Given the description of an element on the screen output the (x, y) to click on. 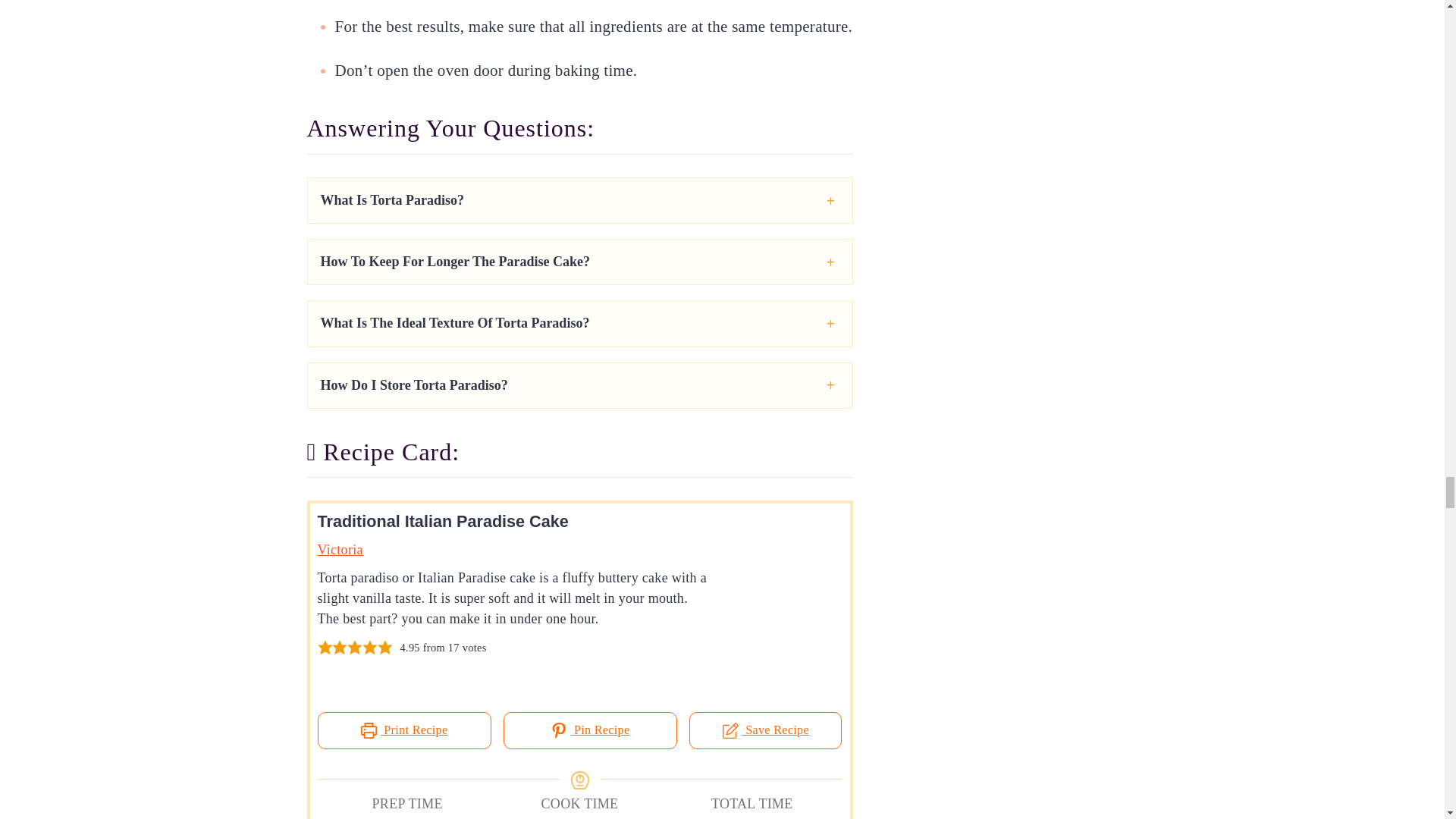
Pin Recipe (590, 730)
How Do I Store Torta Paradiso? (413, 384)
How To Keep For Longer The Paradise Cake? (454, 261)
Save Recipe (764, 730)
What Is The Ideal Texture Of Torta Paradiso? (454, 322)
What Is Torta Paradiso? (392, 199)
Print Recipe (403, 730)
Victoria (339, 549)
